Given the description of an element on the screen output the (x, y) to click on. 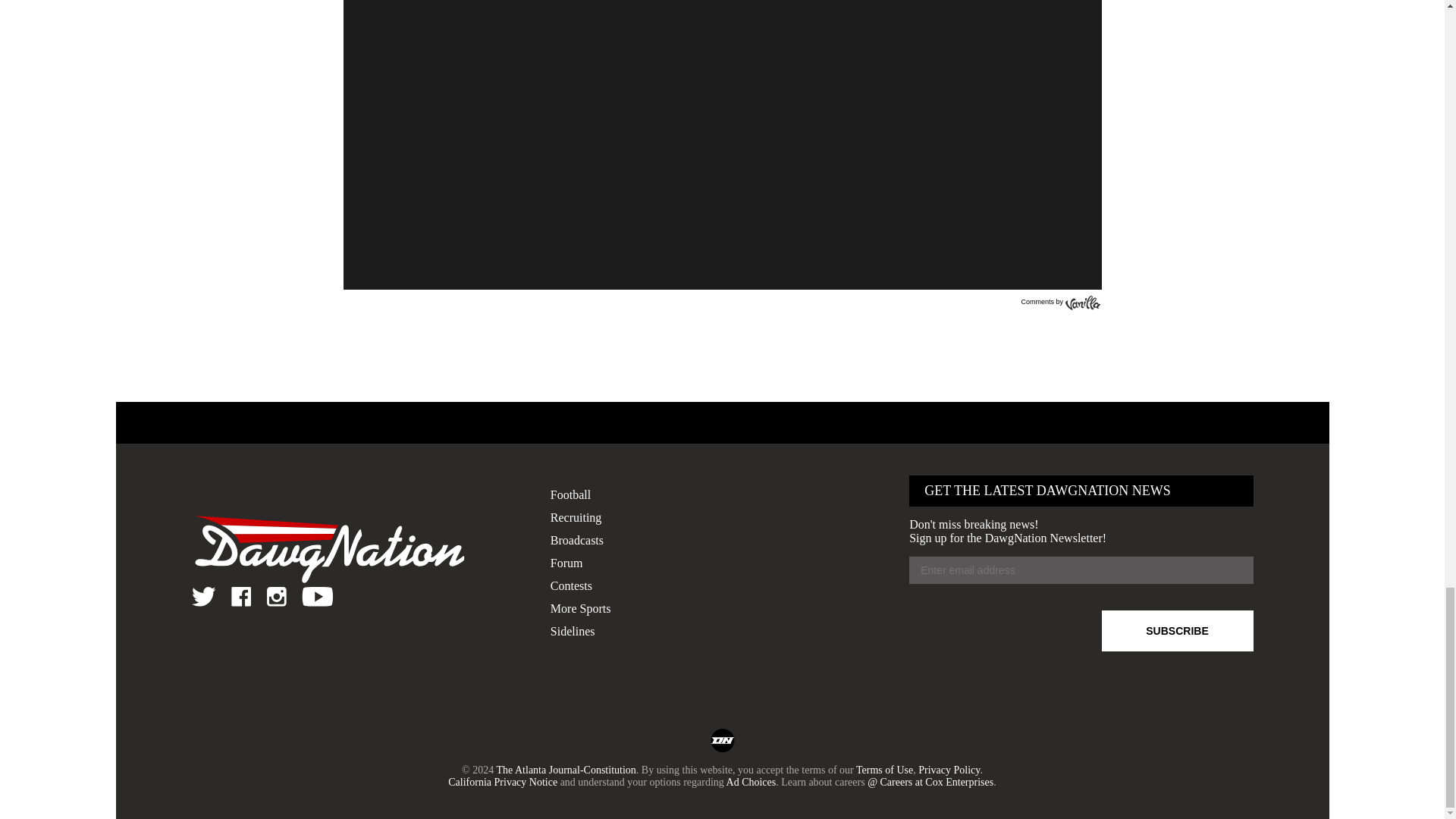
Subscribe (1176, 630)
3rd party ad content (721, 345)
TwitterVisit our Twitter page. (202, 596)
